Given the description of an element on the screen output the (x, y) to click on. 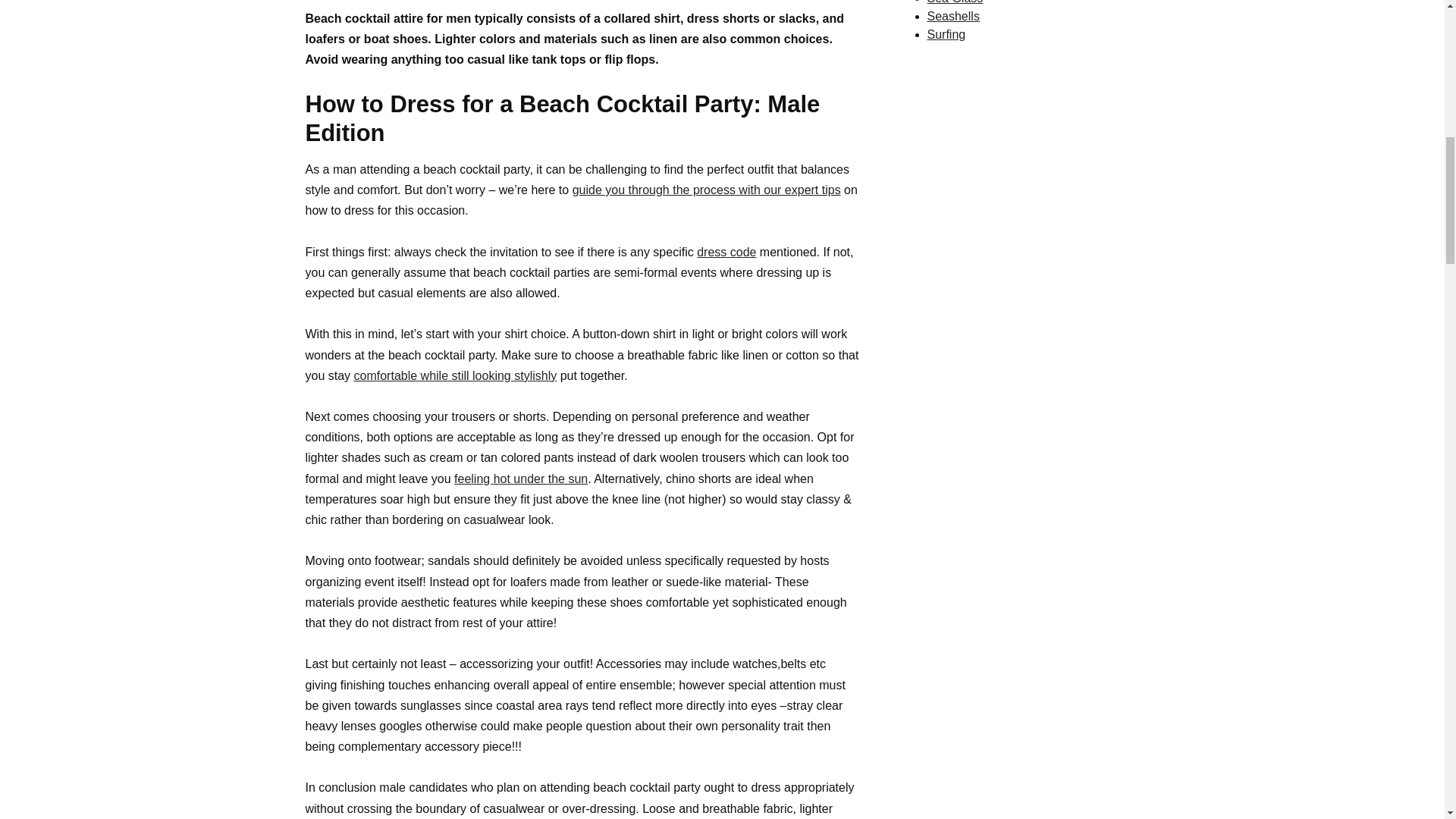
guide you through the process with our expert tips (706, 189)
comfortable while still looking stylishly (455, 375)
feeling hot under the sun (521, 478)
dress code (726, 251)
